Given the description of an element on the screen output the (x, y) to click on. 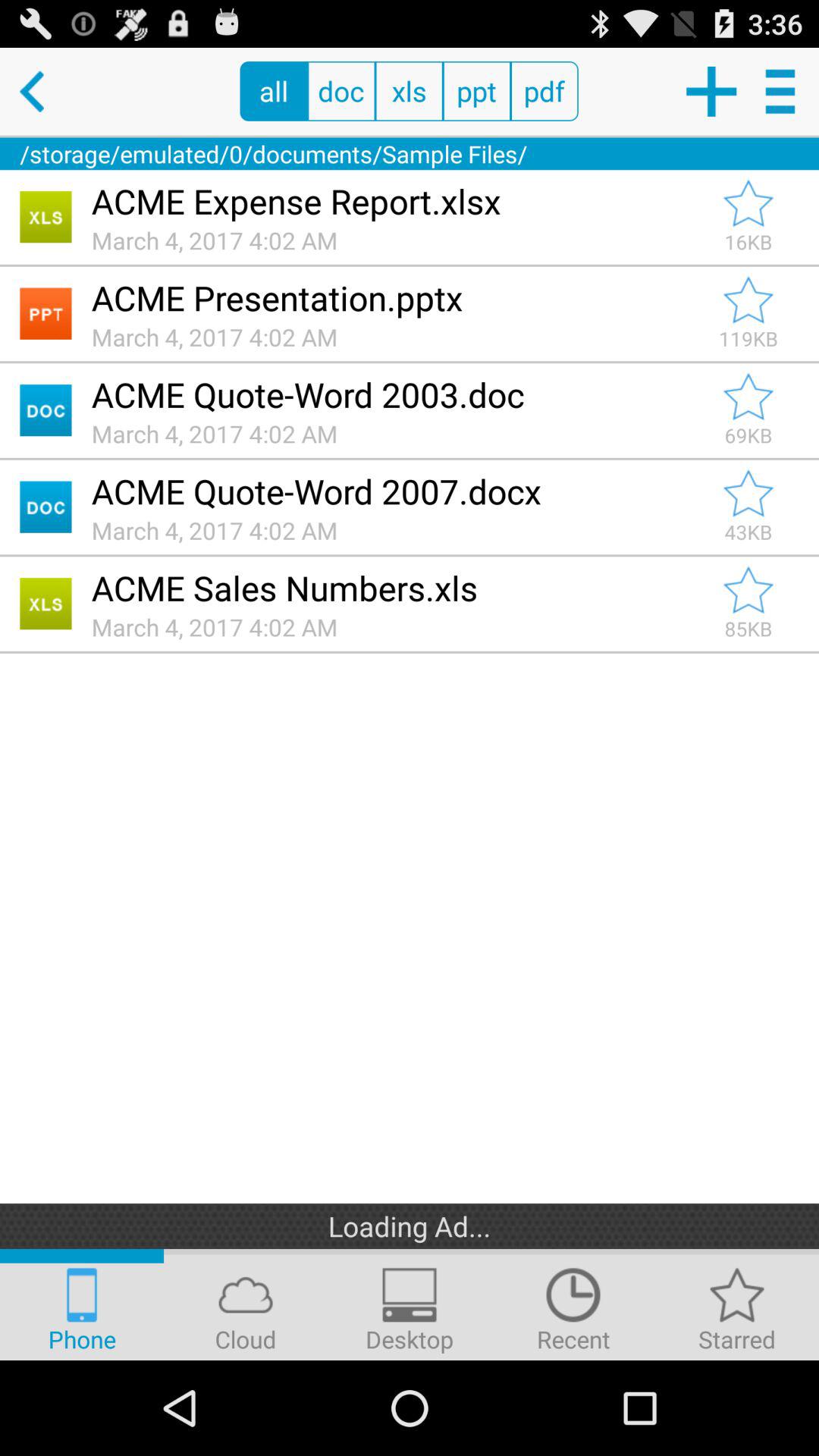
choose the item next to the doc radio button (273, 91)
